Given the description of an element on the screen output the (x, y) to click on. 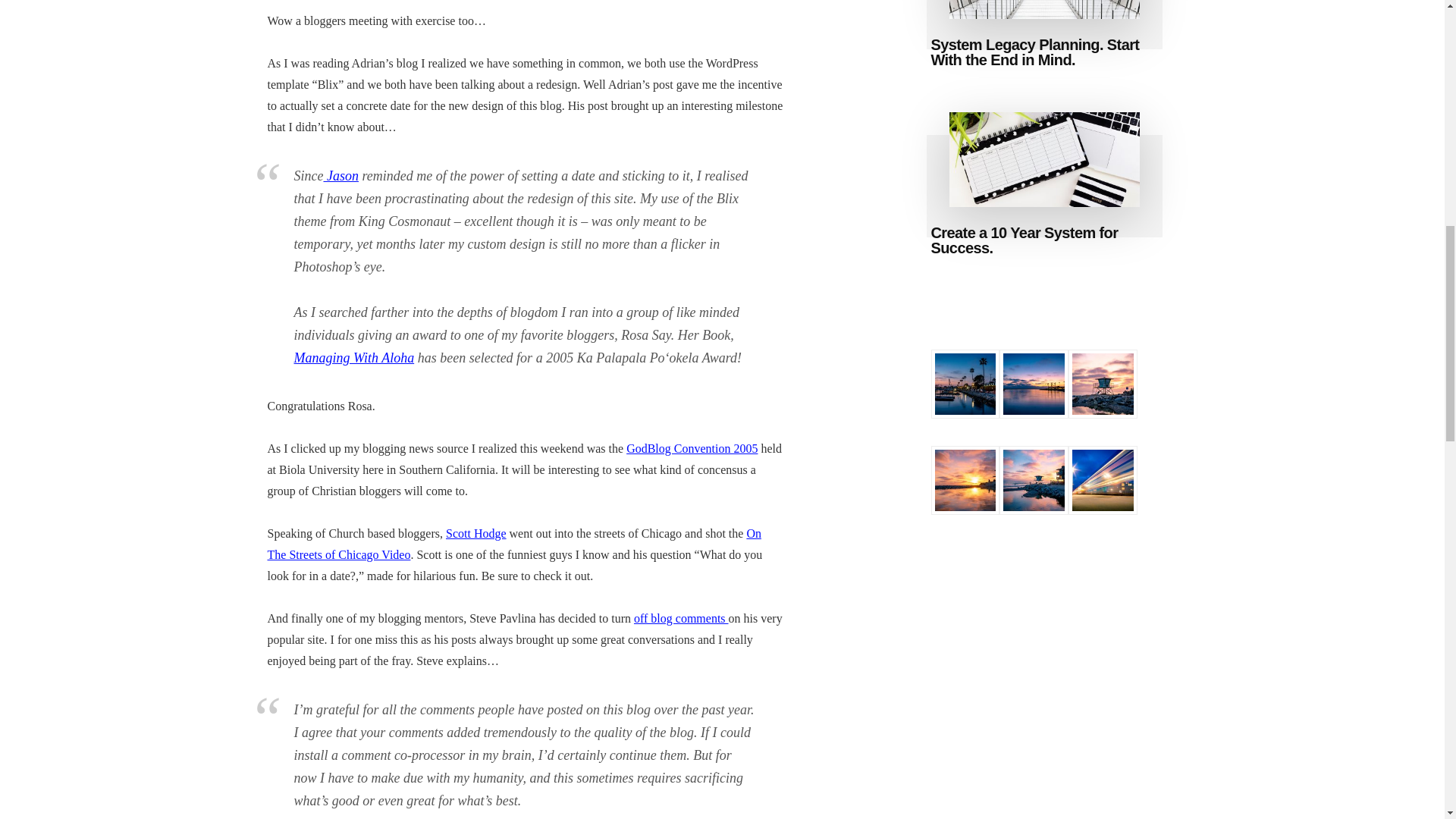
Jason (340, 175)
Scott Hodge (475, 533)
GodBlog Convention 2005 (691, 448)
On The Streets of Chicago Video (513, 544)
off blog comments (681, 617)
Managing With Aloha (354, 357)
